Given the description of an element on the screen output the (x, y) to click on. 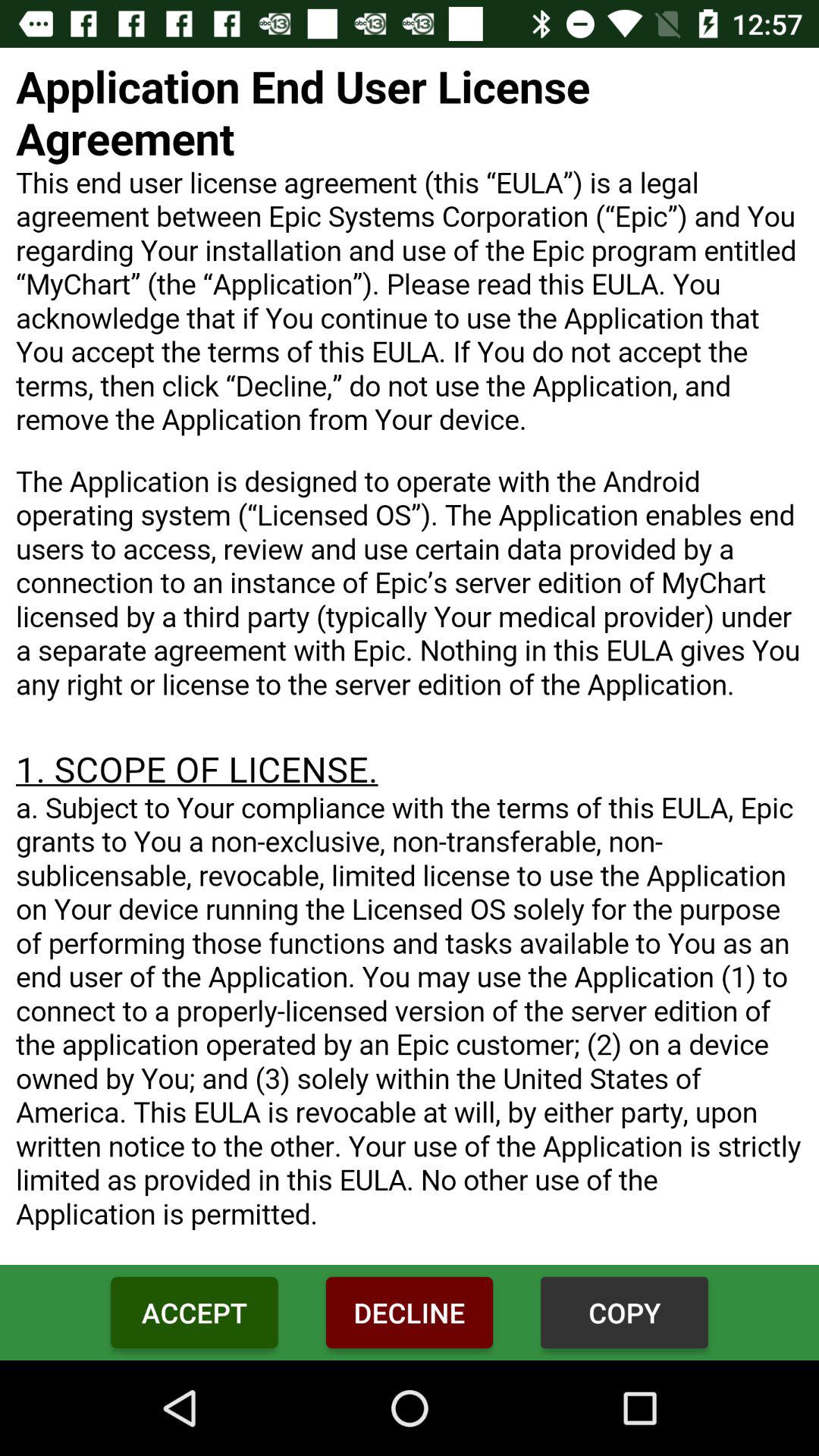
agreement (409, 655)
